Given the description of an element on the screen output the (x, y) to click on. 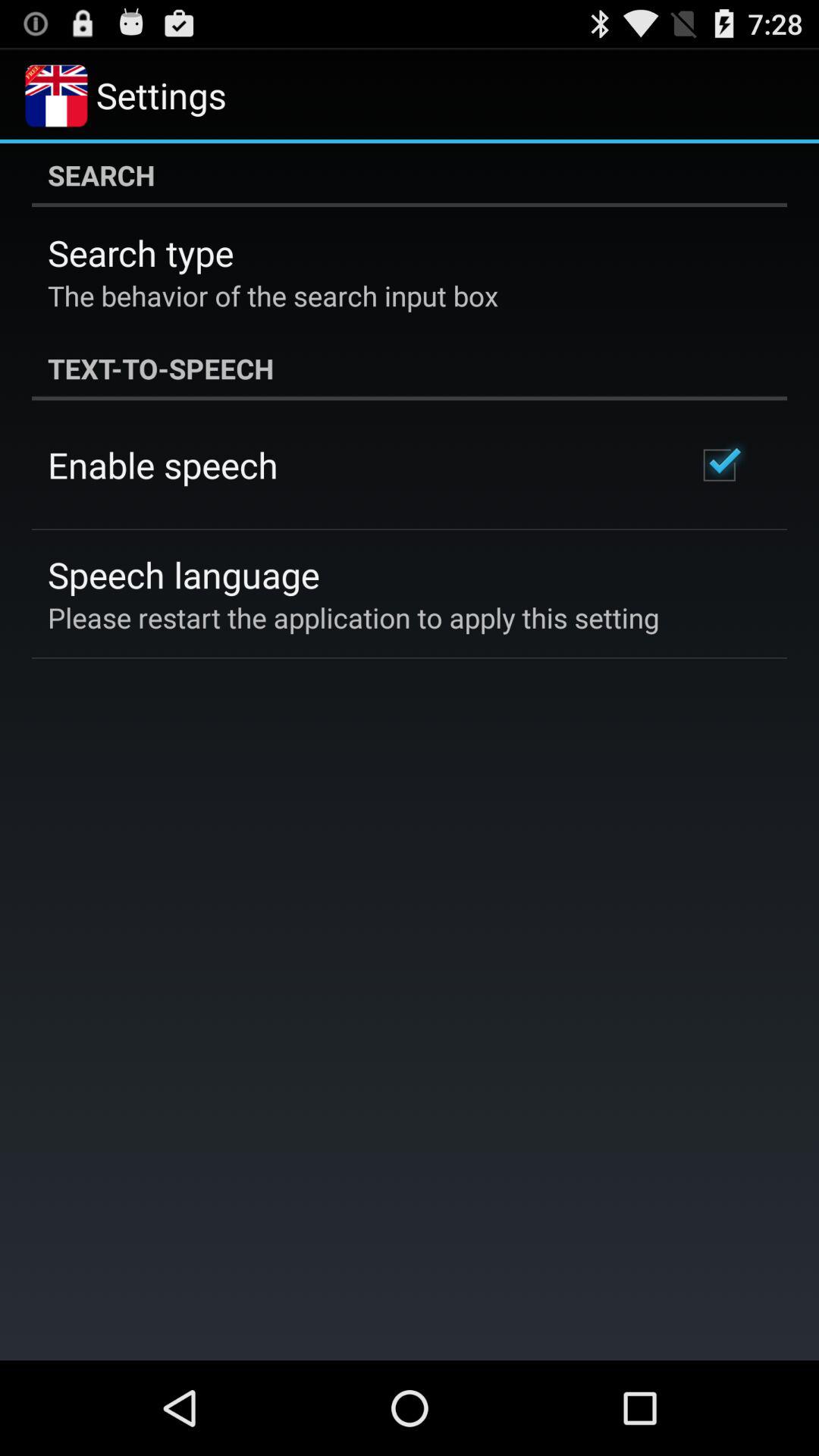
flip until speech language app (183, 574)
